Given the description of an element on the screen output the (x, y) to click on. 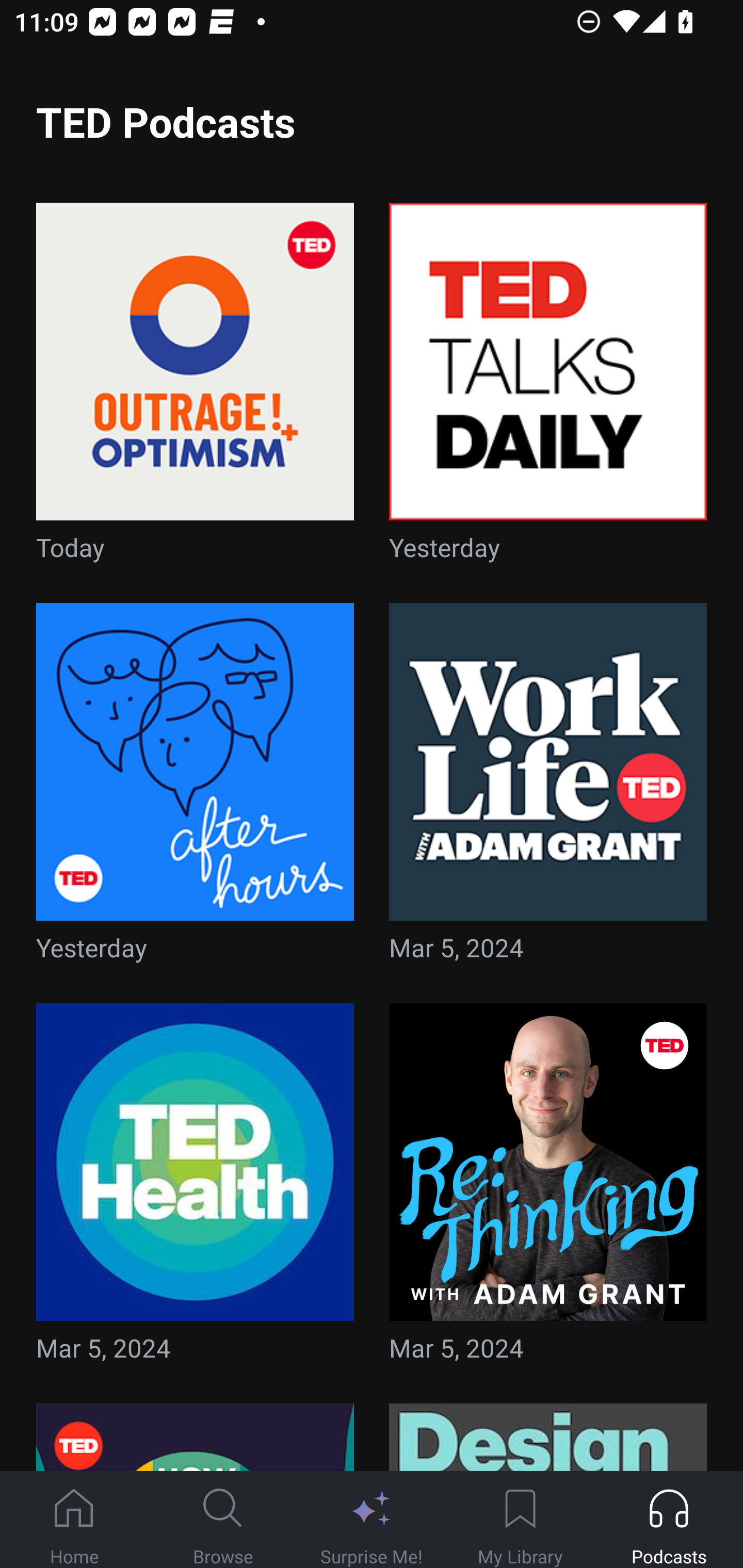
Today (194, 387)
Yesterday (547, 387)
Yesterday (194, 788)
Mar 5, 2024 (547, 788)
Mar 5, 2024 (194, 1189)
Mar 5, 2024 (547, 1189)
Home (74, 1520)
Browse (222, 1520)
Surprise Me! (371, 1520)
My Library (519, 1520)
Podcasts (668, 1520)
